Given the description of an element on the screen output the (x, y) to click on. 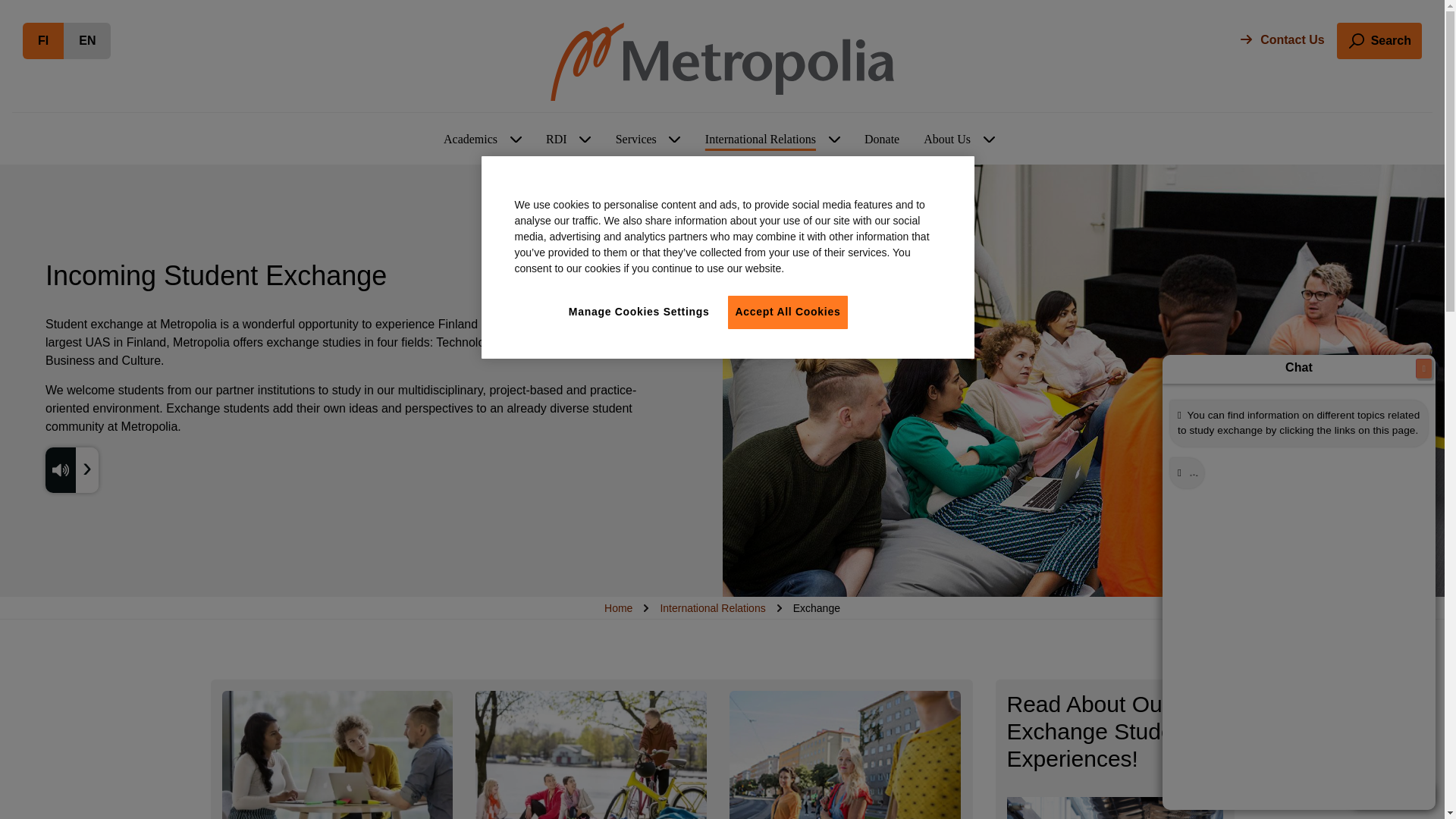
Chat (1392, 794)
Show submenu for Academics (515, 139)
Show submenu for RDI (87, 40)
Academics (584, 139)
Show submenu for Services (43, 40)
Search (470, 139)
Services (674, 139)
Contact Us (1379, 40)
